Given the description of an element on the screen output the (x, y) to click on. 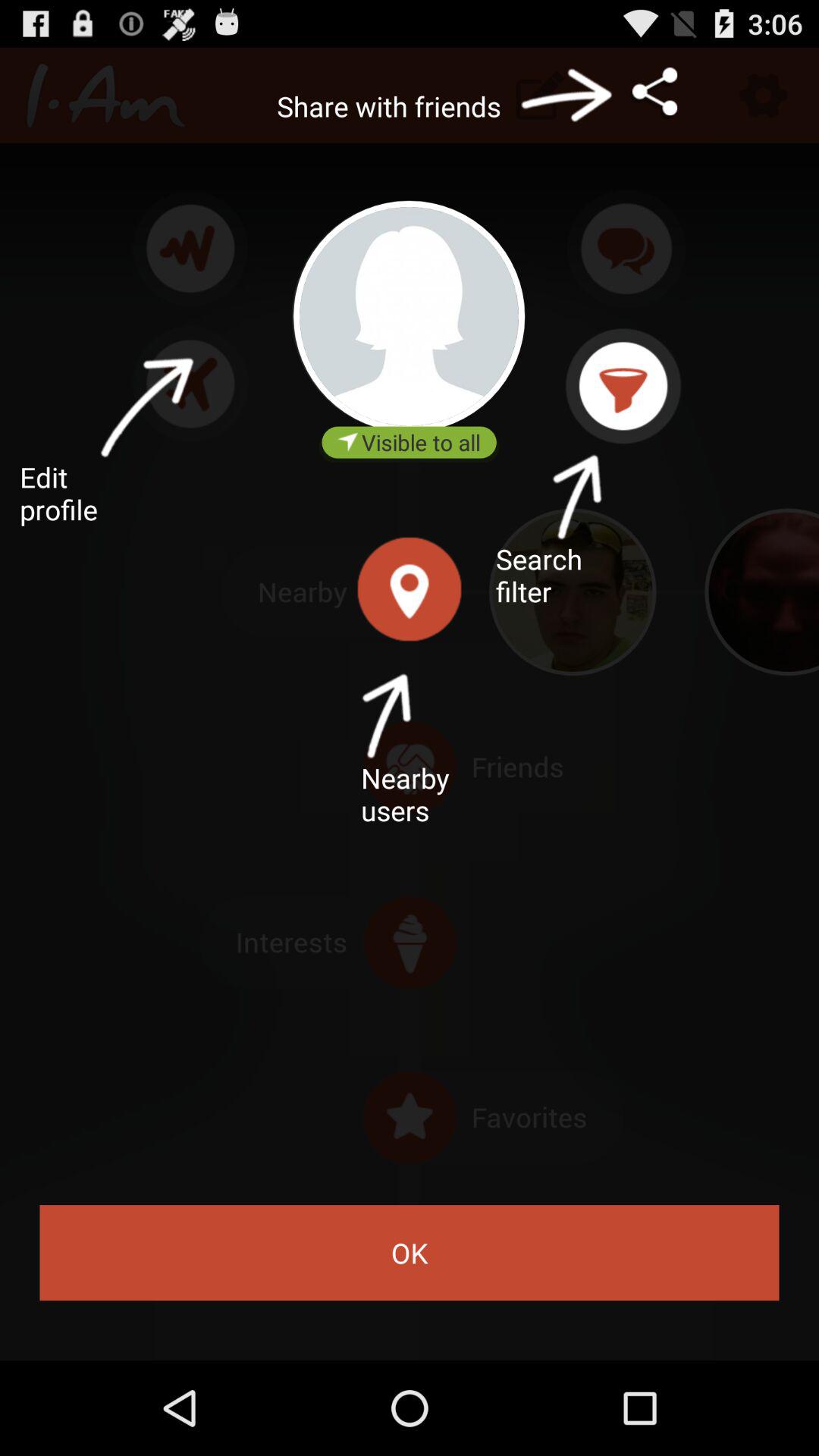
launch the item below nearby
users icon (409, 1252)
